Given the description of an element on the screen output the (x, y) to click on. 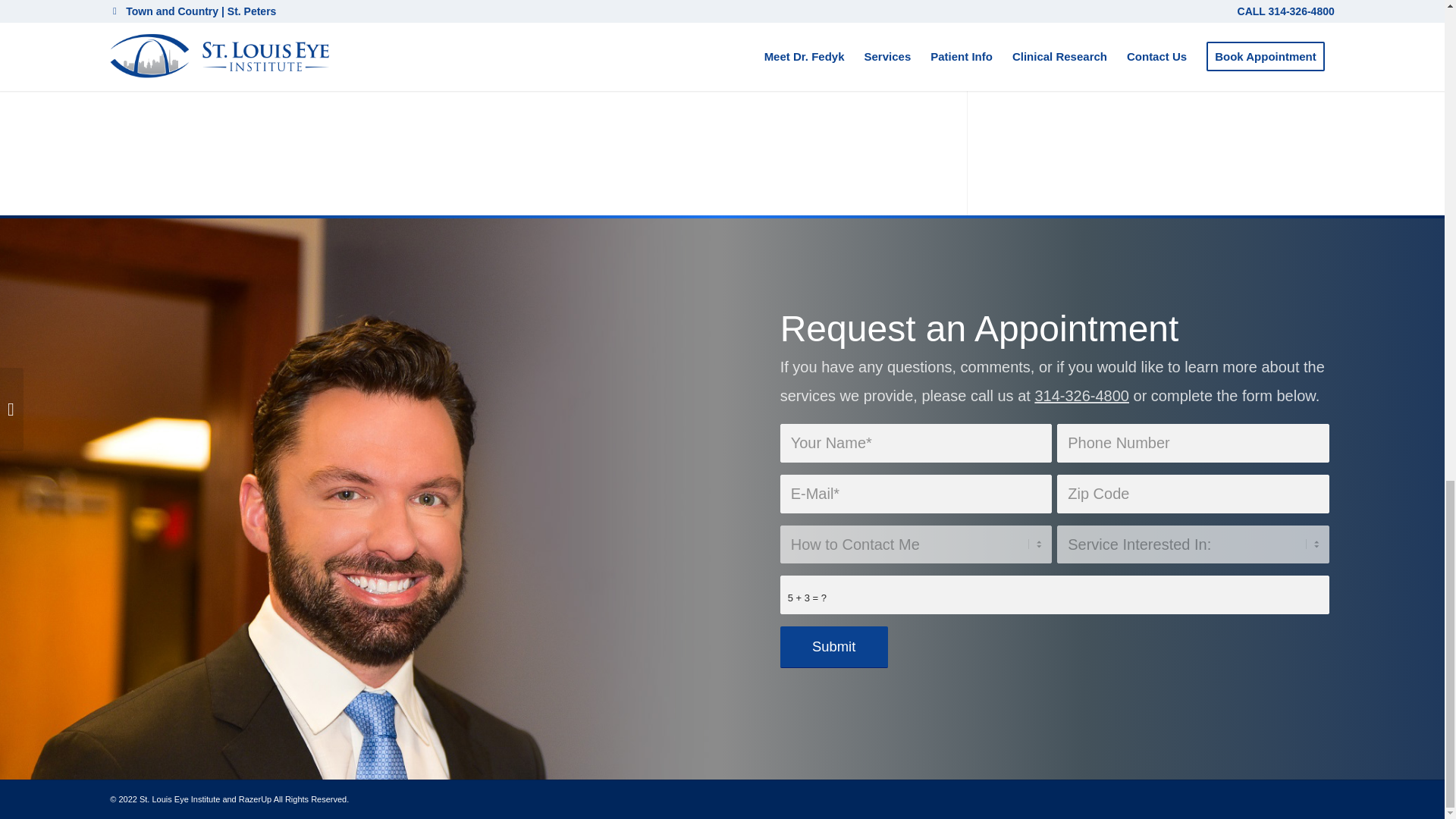
Submit (834, 647)
